Given the description of an element on the screen output the (x, y) to click on. 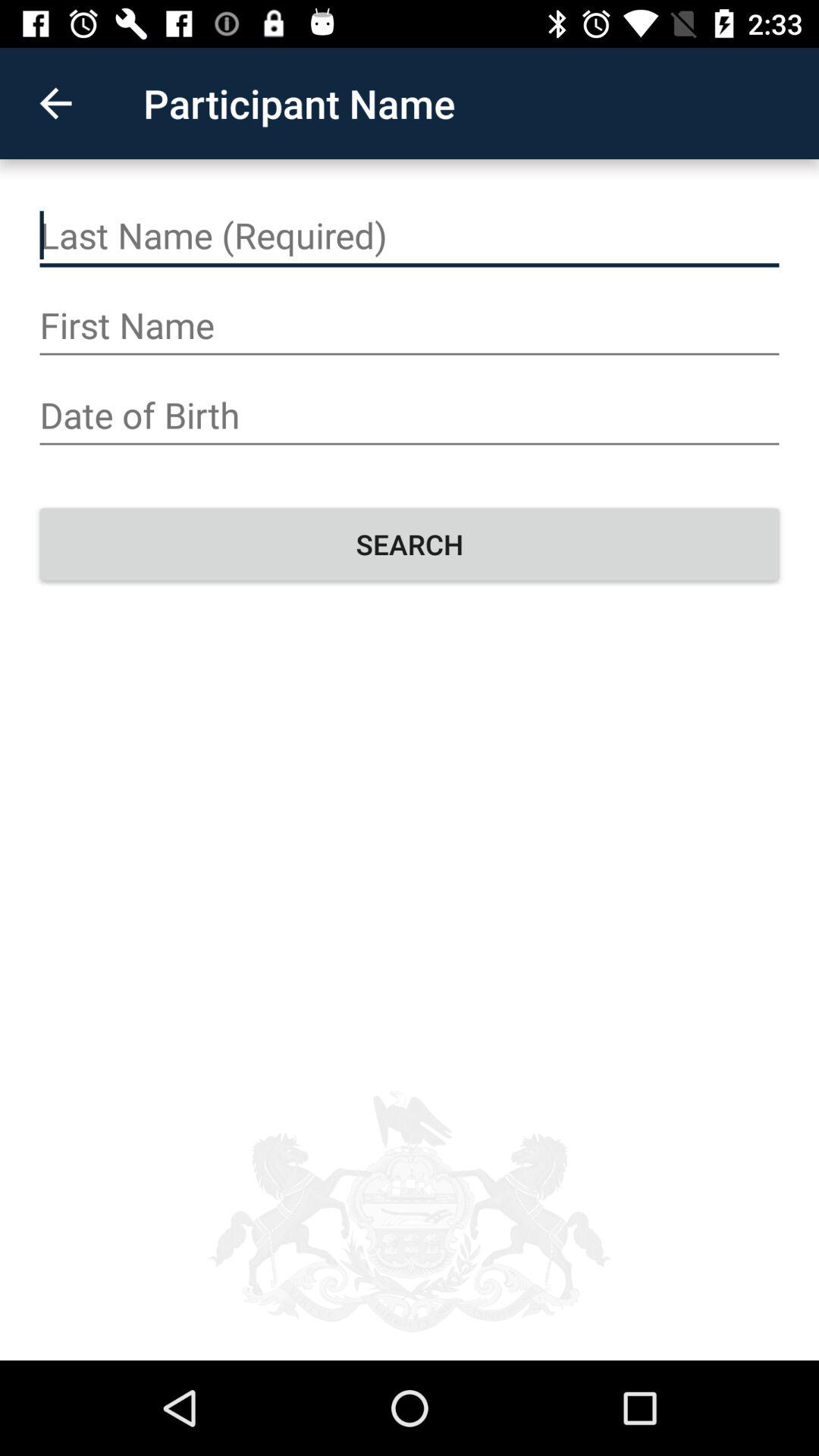
enter last name (409, 235)
